Given the description of an element on the screen output the (x, y) to click on. 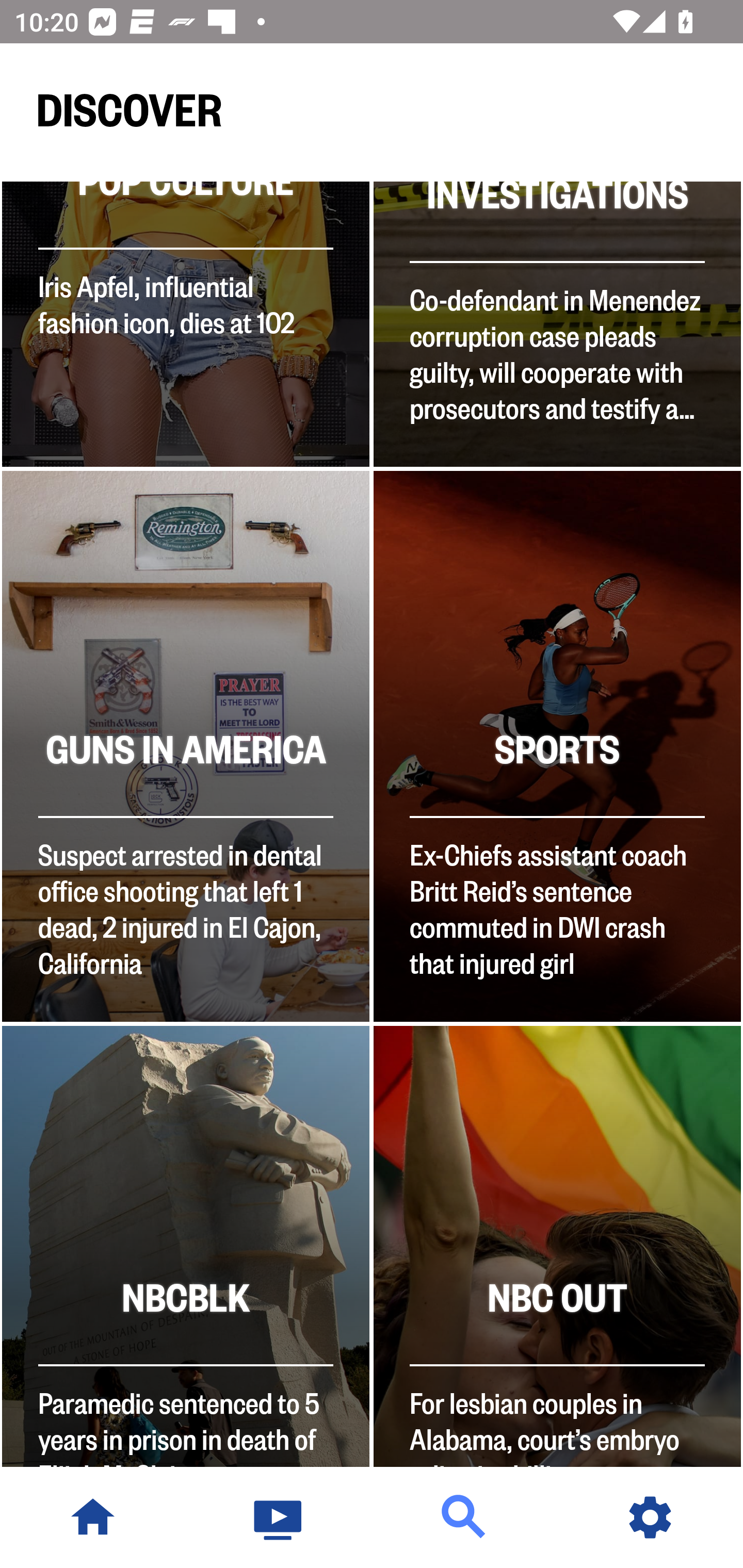
NBC News Home (92, 1517)
Watch (278, 1517)
Settings (650, 1517)
